Given the description of an element on the screen output the (x, y) to click on. 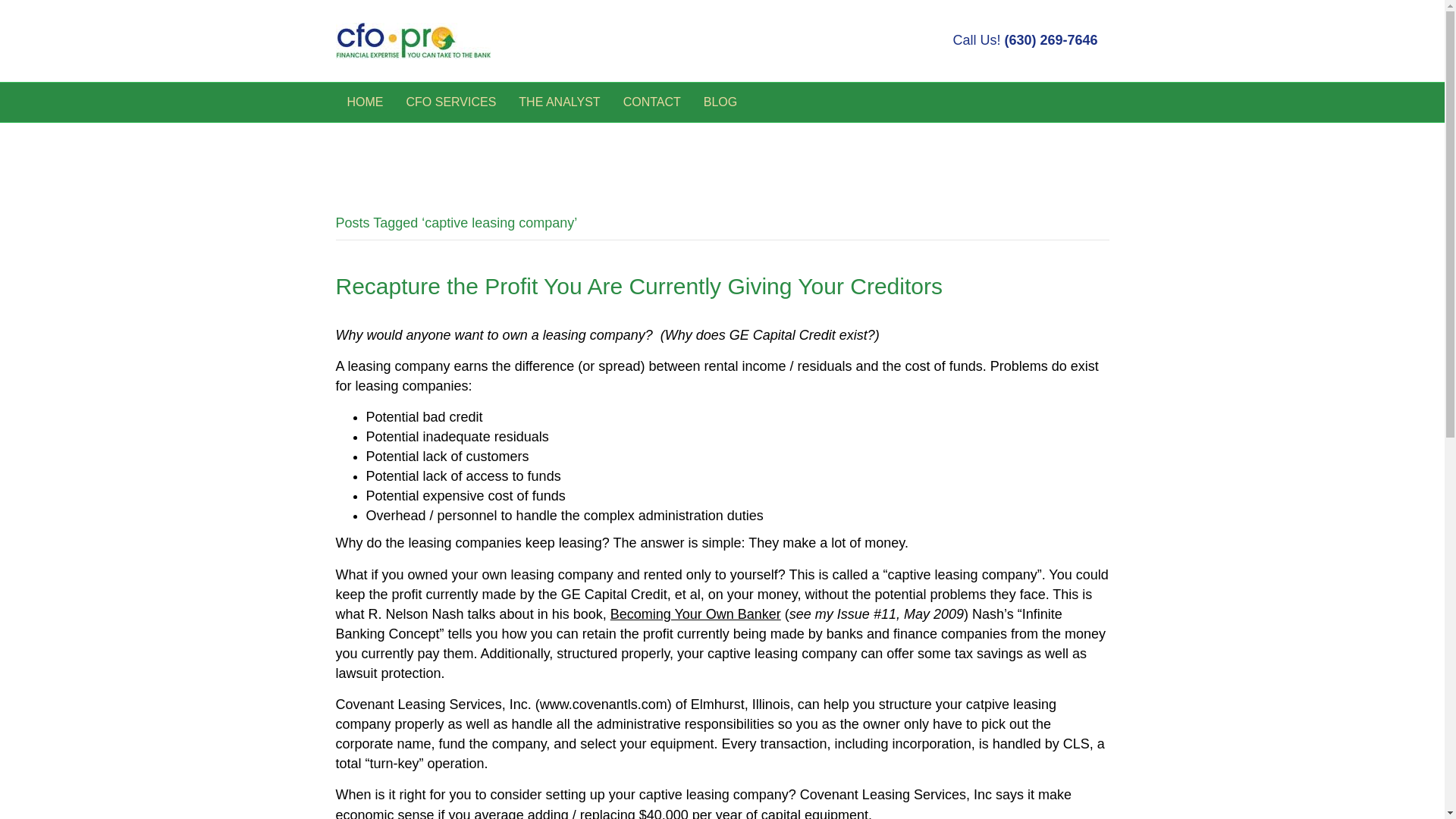
THE ANALYST (558, 102)
Recapture the Profit You Are Currently Giving Your Creditors (638, 285)
BLOG (720, 102)
HOME (364, 102)
Recapture the Profit You Are Currently Giving Your Creditors (638, 285)
CFO SERVICES (450, 102)
CONTACT (652, 102)
